Given the description of an element on the screen output the (x, y) to click on. 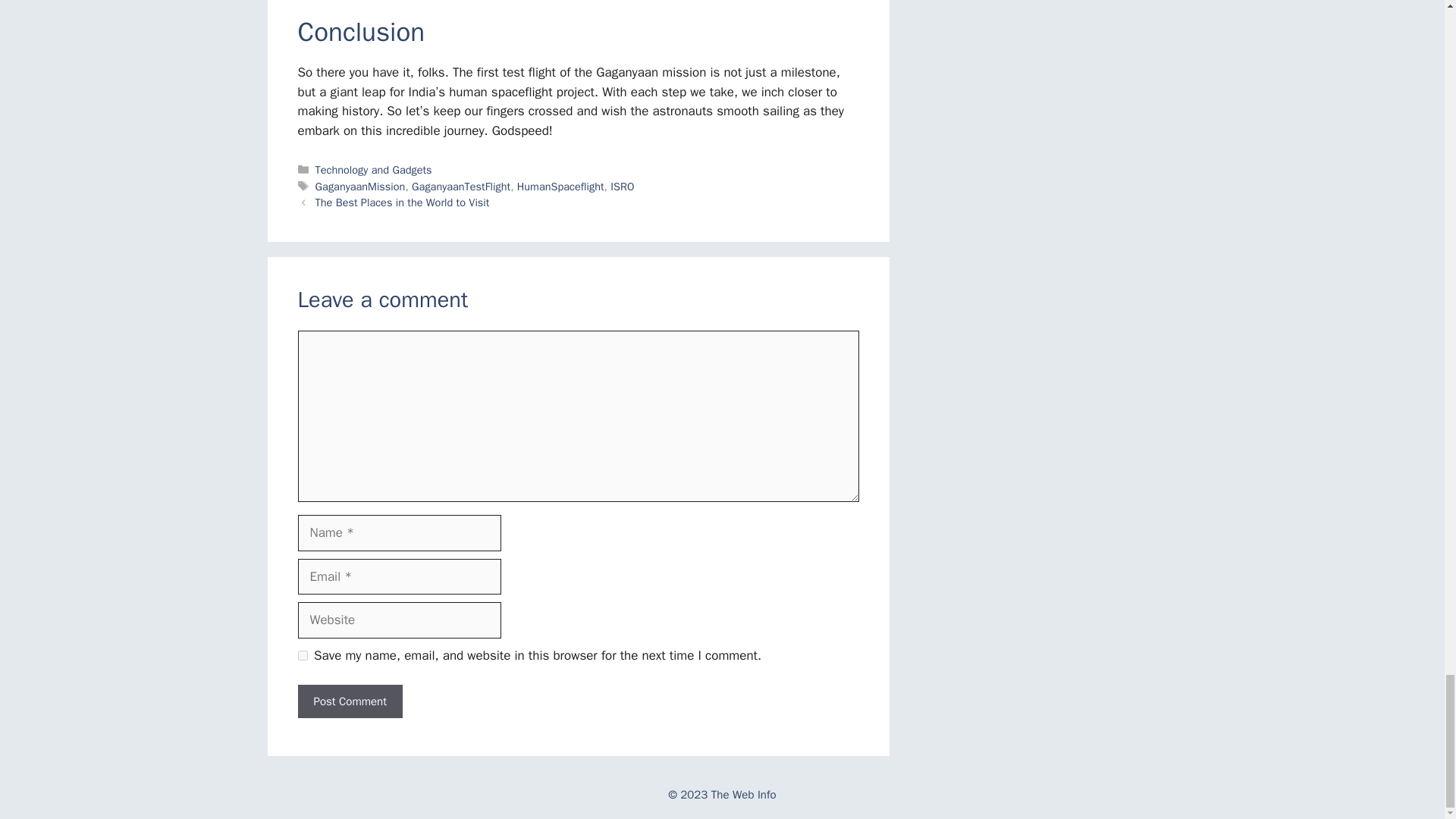
Technology and Gadgets (373, 169)
ISRO (621, 186)
yes (302, 655)
HumanSpaceflight (560, 186)
Post Comment (349, 701)
The Best Places in the World to Visit (402, 202)
GaganyaanMission (360, 186)
GaganyaanTestFlight (461, 186)
Post Comment (349, 701)
